Given the description of an element on the screen output the (x, y) to click on. 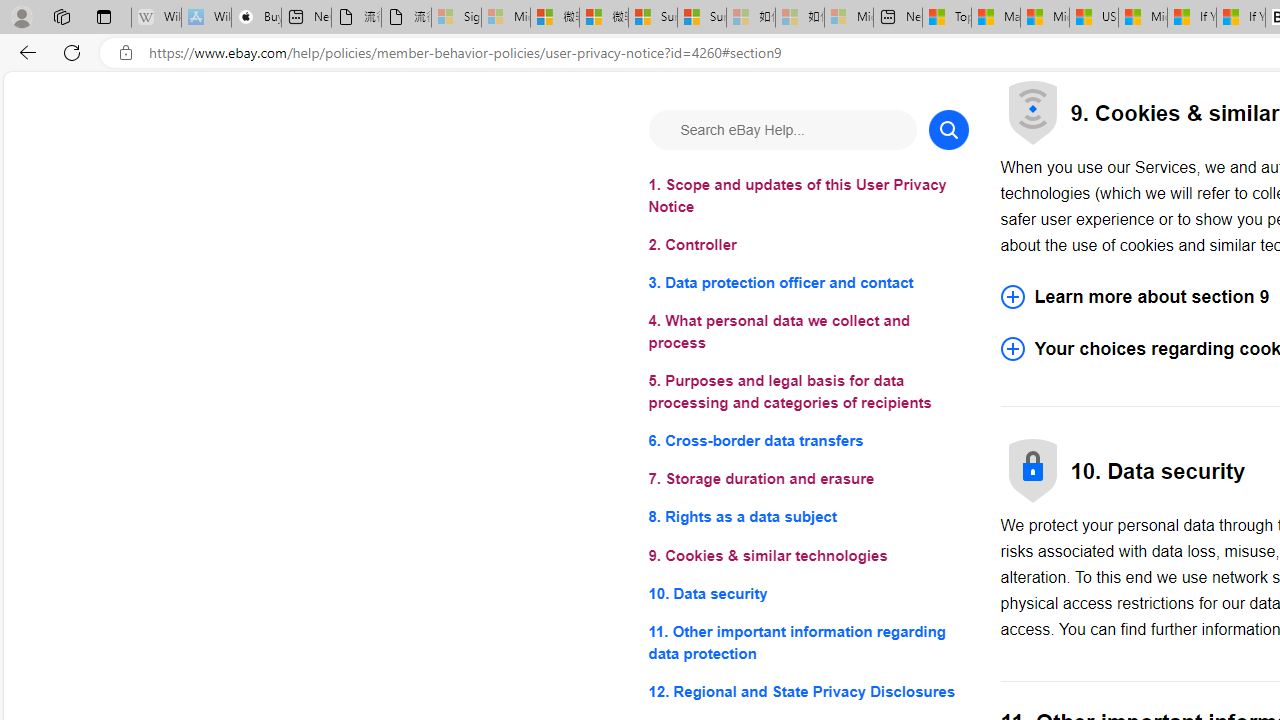
9. Cookies & similar technologies (807, 555)
7. Storage duration and erasure (807, 479)
6. Cross-border data transfers (807, 440)
2. Controller (807, 245)
11. Other important information regarding data protection (807, 642)
8. Rights as a data subject (807, 517)
1. Scope and updates of this User Privacy Notice (807, 196)
